Given the description of an element on the screen output the (x, y) to click on. 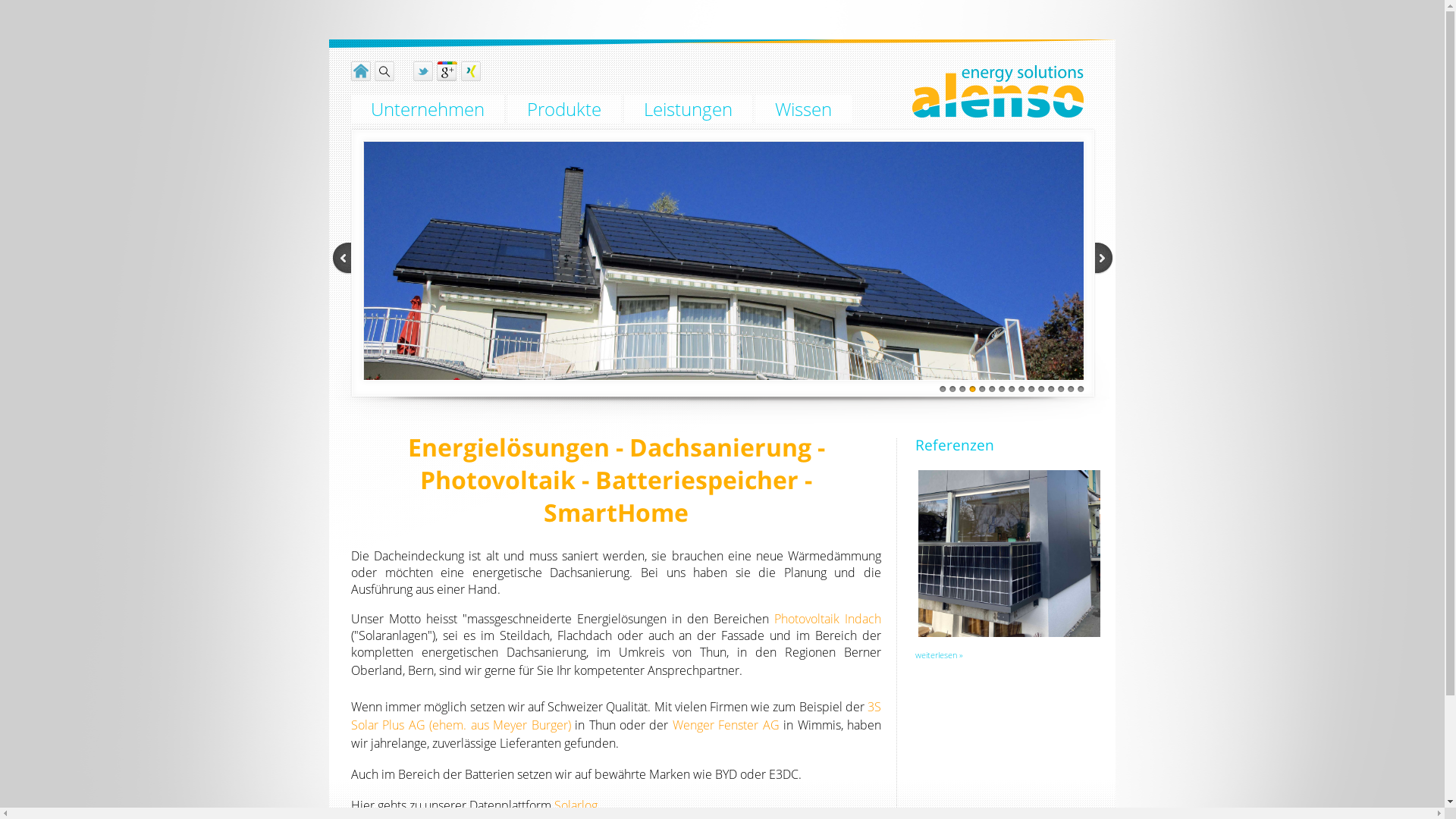
Unternehmen Element type: text (427, 108)
3S Solar Plus AG (ehem. aus Meyer Burger) Element type: text (616, 715)
Solarlog Element type: text (575, 805)
Produkte Element type: text (564, 108)
Photovoltaik Element type: text (806, 618)
Wenger Fenster AG Element type: text (725, 724)
Wissen Element type: text (803, 108)
Leistungen Element type: text (688, 108)
Referenzen Element type: text (954, 444)
